Given the description of an element on the screen output the (x, y) to click on. 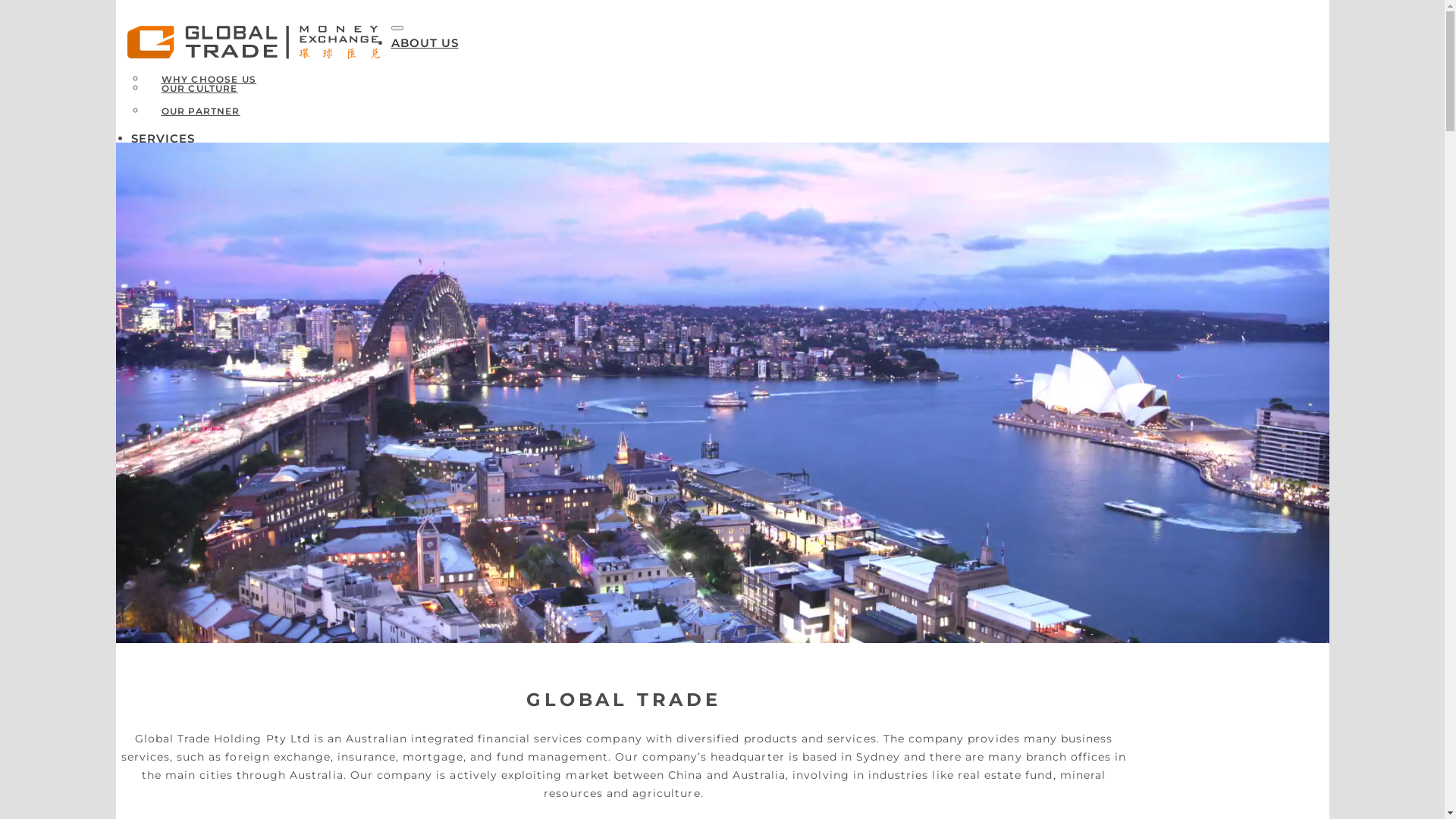
LIVE RATE Element type: text (203, 177)
OUR CULTURE Element type: text (198, 88)
DOWNLOAD Element type: text (209, 200)
SALES PERSONNEL Element type: text (228, 403)
OUR PARTNER Element type: text (199, 110)
ABOUT US Element type: text (424, 42)
LENDING OFFICER Element type: text (226, 358)
MORTGAGE Element type: text (191, 206)
WHY CHOOSE US Element type: text (208, 79)
NEWS Element type: text (149, 276)
CONTACT US Element type: text (171, 295)
ANTI-MONEY LAUNDERING POLICY Element type: text (241, 229)
INSURANCE SPECIALIST Element type: text (242, 380)
INSURANCE Element type: text (193, 183)
MEDIA CENTRE Element type: text (202, 318)
WEALTH MANAGEMENT Element type: text (207, 256)
ABOUT US Element type: text (623, 474)
FUNDING Element type: text (186, 229)
CAREERS Element type: text (186, 341)
REMITTANCE Element type: text (196, 160)
SERVICES Element type: text (162, 138)
BAULKHAM HILLS Element type: text (224, 245)
